Given the description of an element on the screen output the (x, y) to click on. 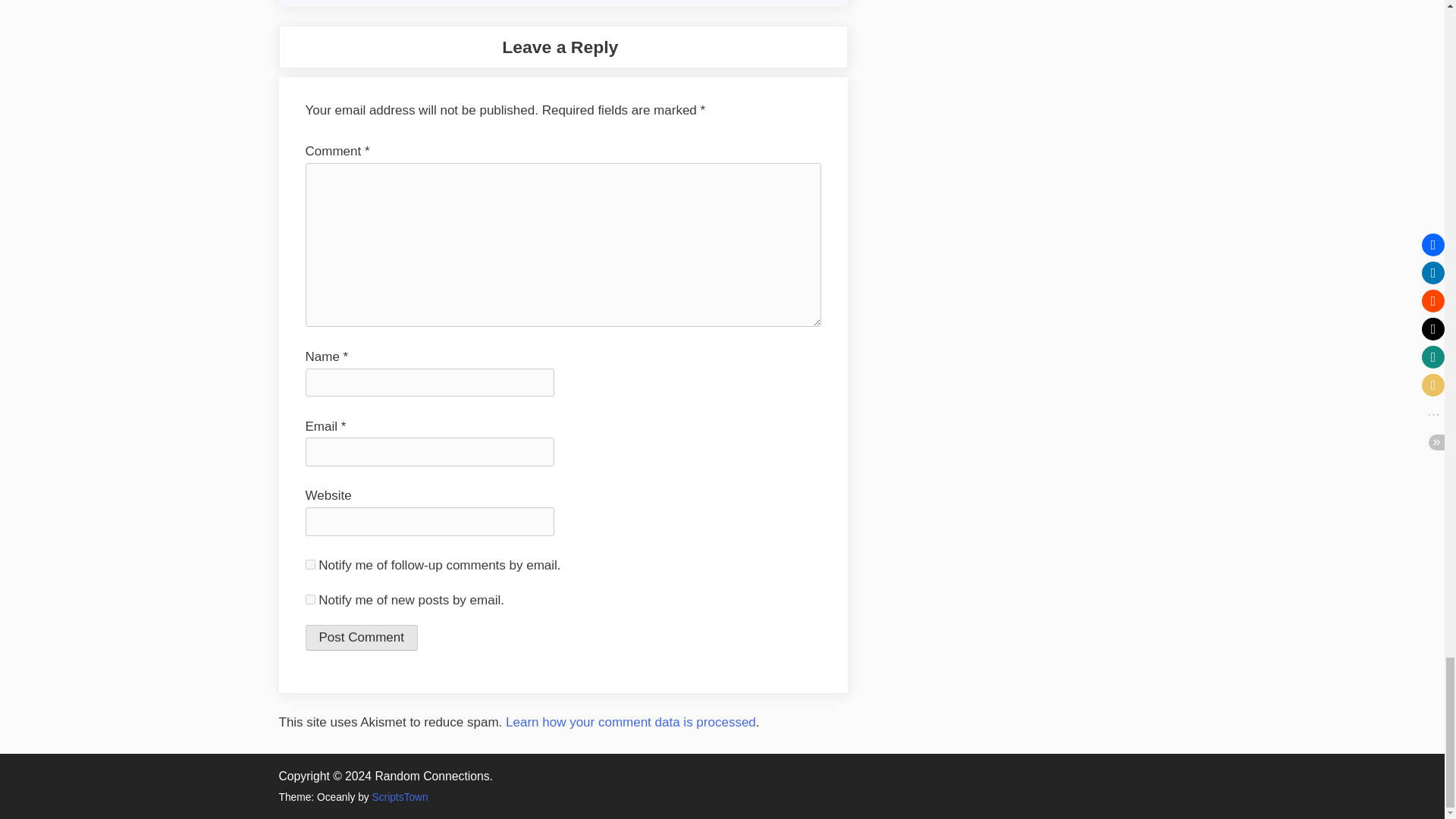
Learn how your comment data is processed (630, 721)
subscribe (309, 564)
Post Comment (360, 637)
subscribe (309, 599)
Post Comment (360, 637)
